Given the description of an element on the screen output the (x, y) to click on. 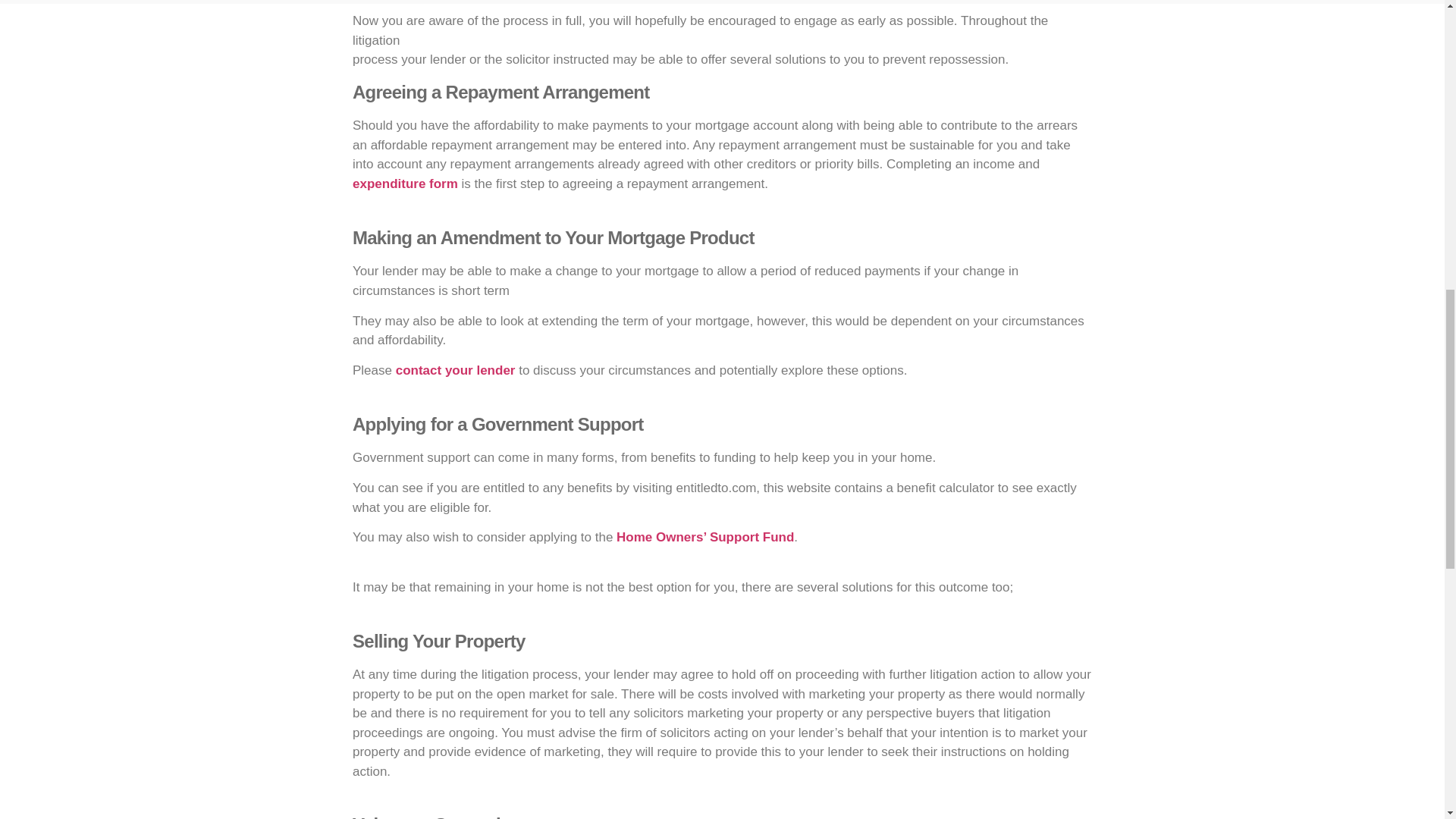
contact your lender (455, 370)
expenditure form (405, 183)
